Given the description of an element on the screen output the (x, y) to click on. 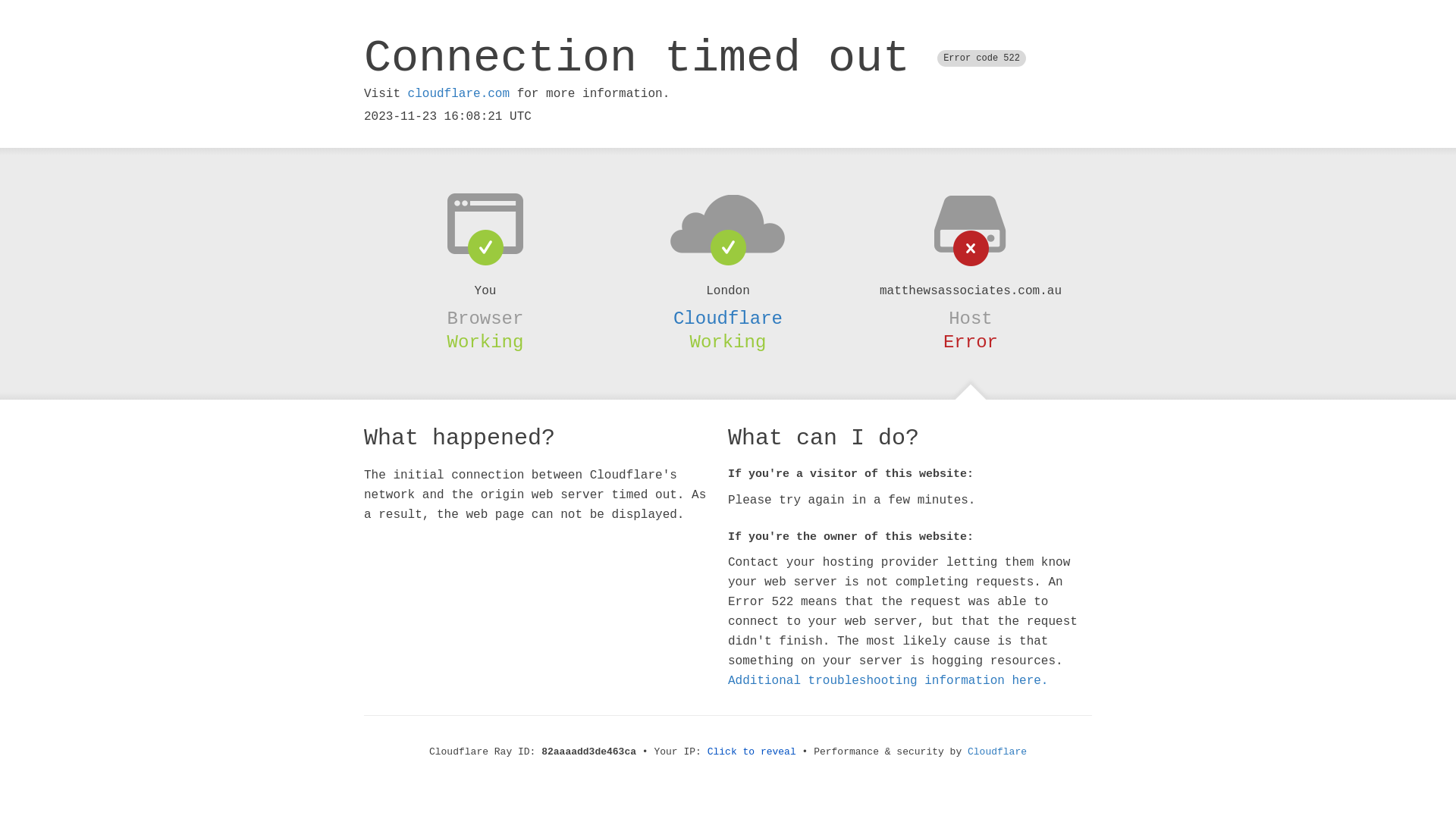
Additional troubleshooting information here. Element type: text (888, 680)
Cloudflare Element type: text (996, 751)
Click to reveal Element type: text (751, 751)
cloudflare.com Element type: text (458, 93)
Cloudflare Element type: text (727, 318)
